Given the description of an element on the screen output the (x, y) to click on. 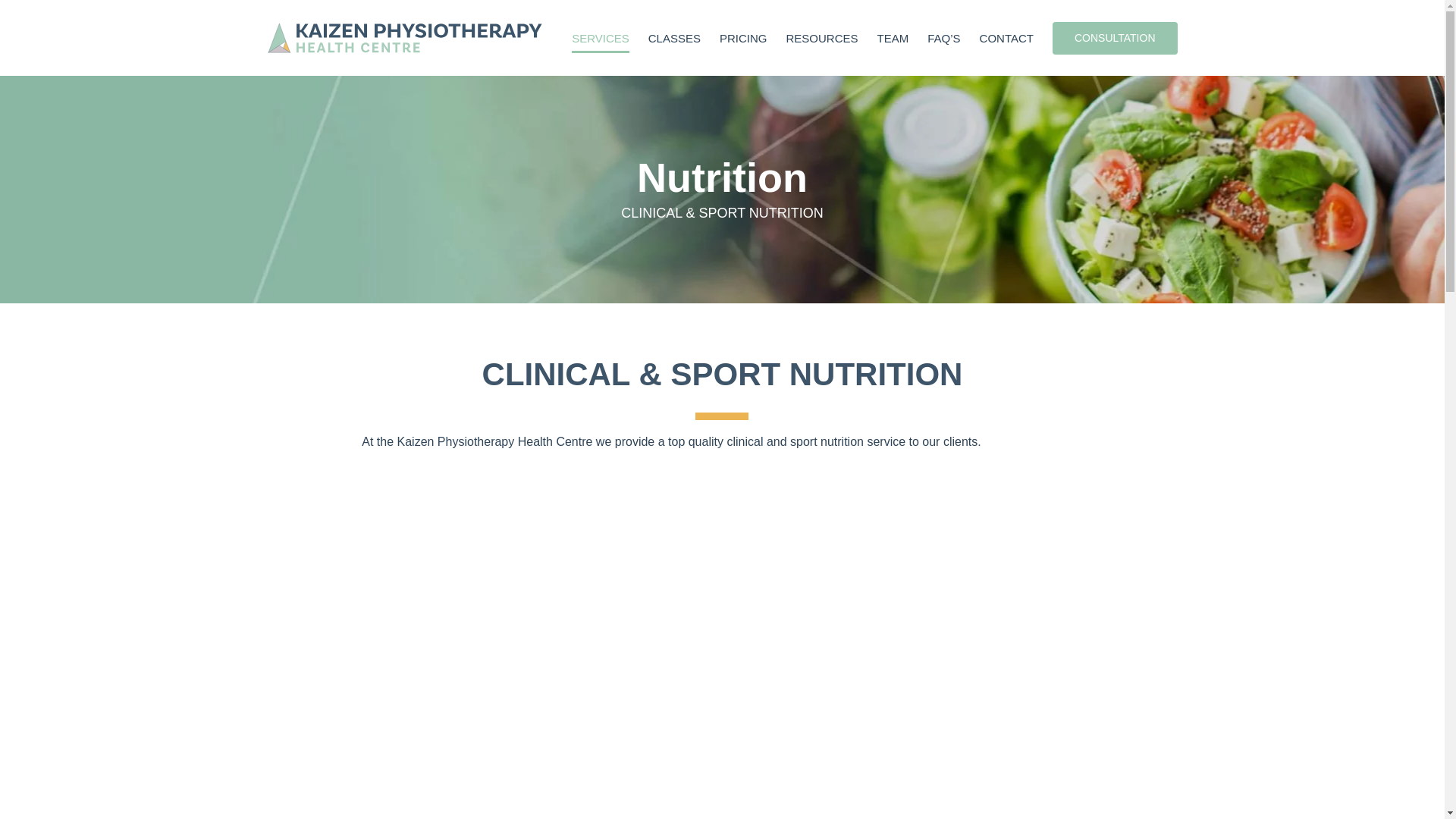
RESOURCES (821, 38)
CONSULTATION (1114, 38)
